Given the description of an element on the screen output the (x, y) to click on. 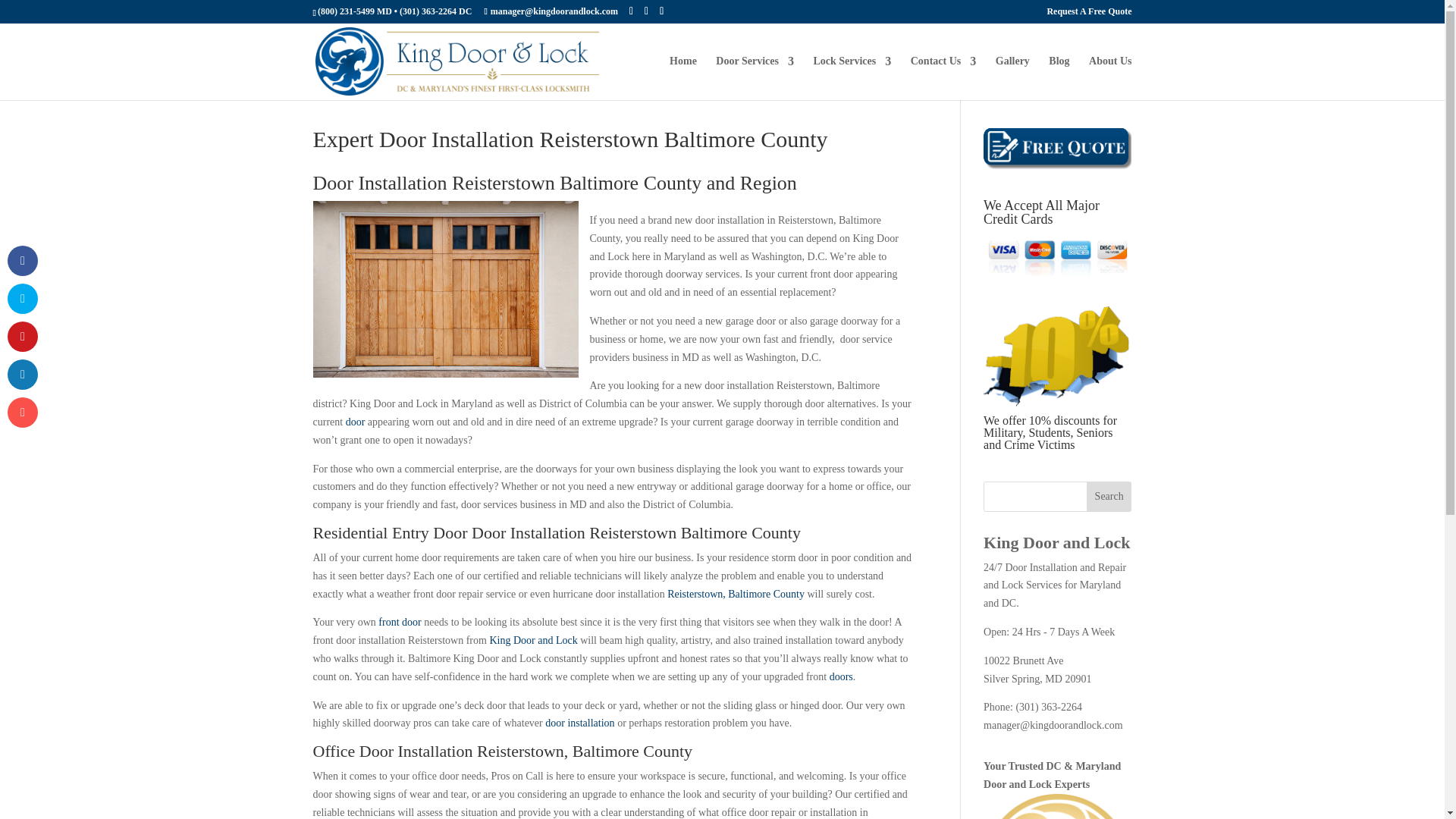
Search (1109, 496)
Door Services (754, 77)
Request A Free Quote (1088, 14)
Reisterstown, Baltimore County (735, 593)
Lock Services (851, 77)
